Given the description of an element on the screen output the (x, y) to click on. 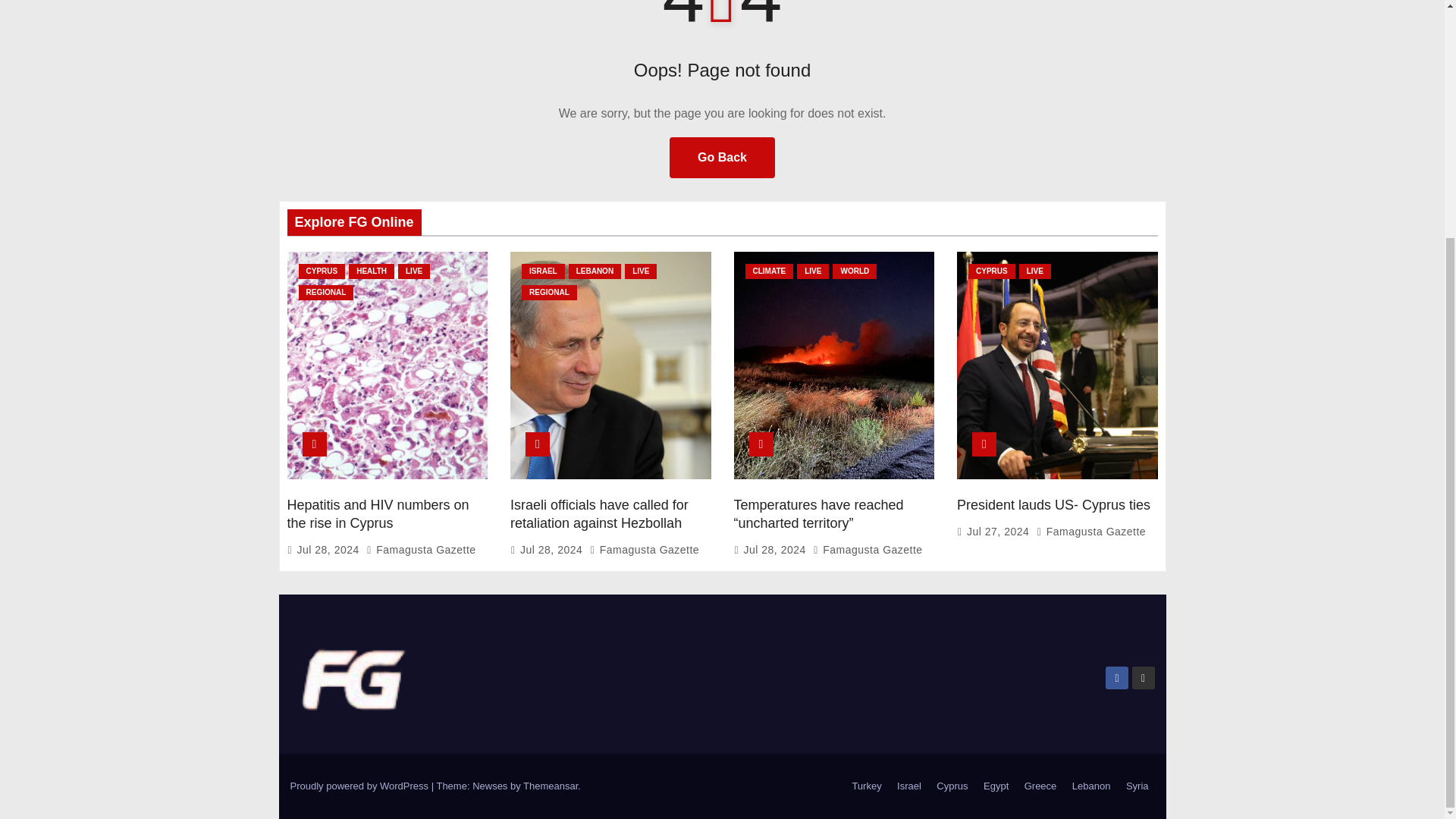
HEALTH (371, 271)
Hepatitis and HIV numbers on the rise in Cyprus (377, 513)
Turkey (865, 786)
REGIONAL (325, 292)
Famagusta Gazette (421, 549)
Go Back (721, 157)
Jul 28, 2024 (329, 549)
LIVE (413, 271)
CYPRUS (322, 271)
